Given the description of an element on the screen output the (x, y) to click on. 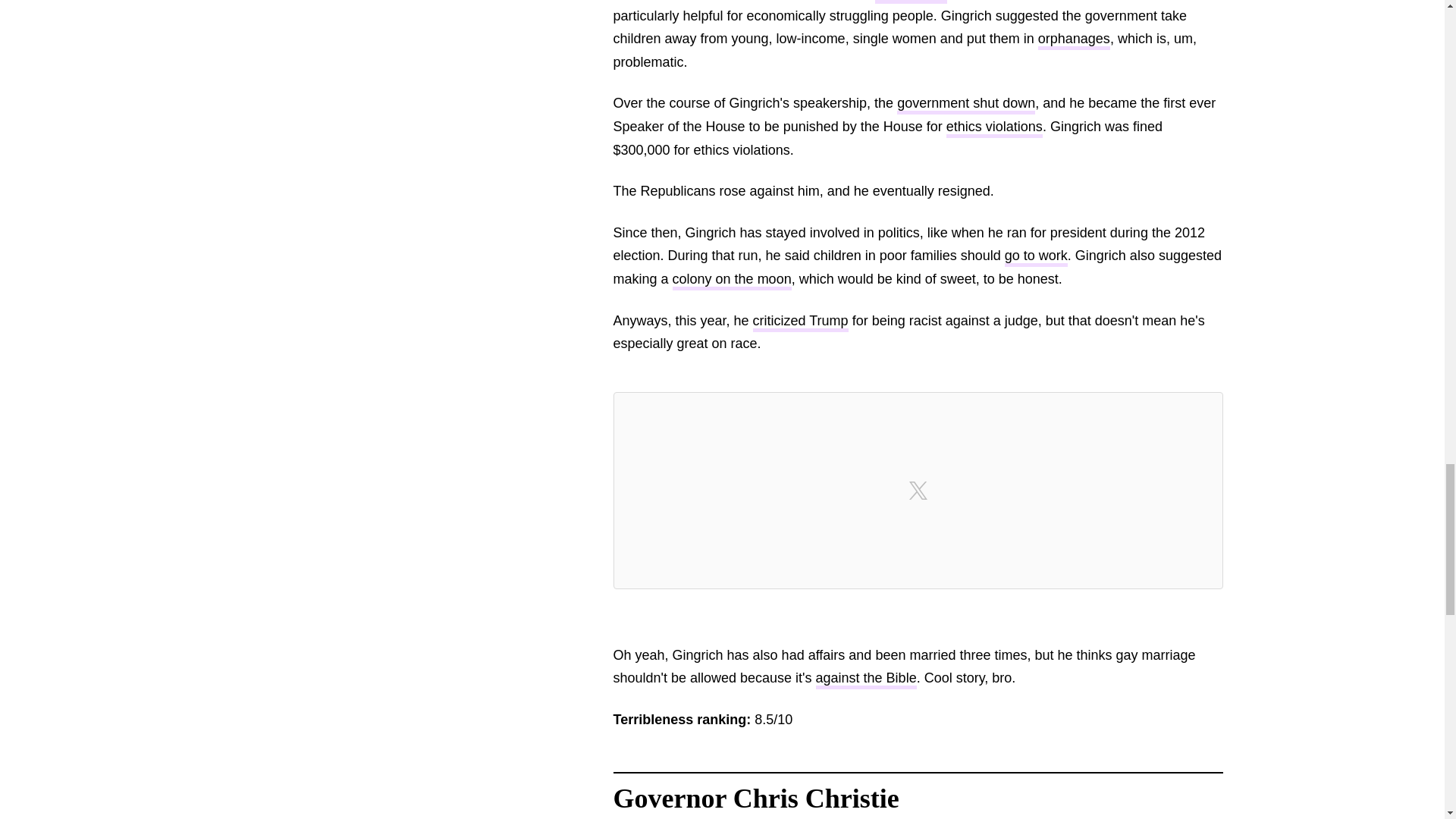
the Clintons (911, 2)
criticized Trump (800, 321)
against the Bible (866, 679)
colony on the moon (732, 280)
go to work (1035, 257)
government shut down (965, 104)
ethics violations (994, 128)
orphanages (1073, 40)
